Given the description of an element on the screen output the (x, y) to click on. 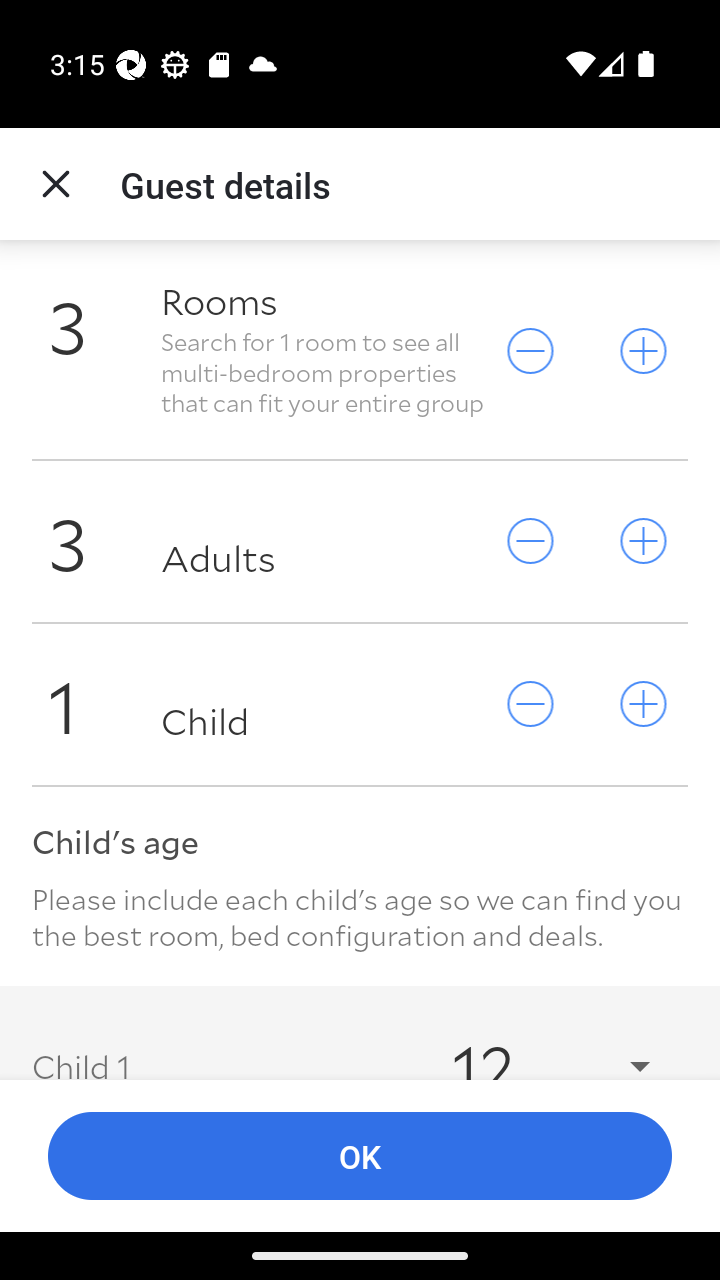
12 (531, 1044)
OK (359, 1156)
